Given the description of an element on the screen output the (x, y) to click on. 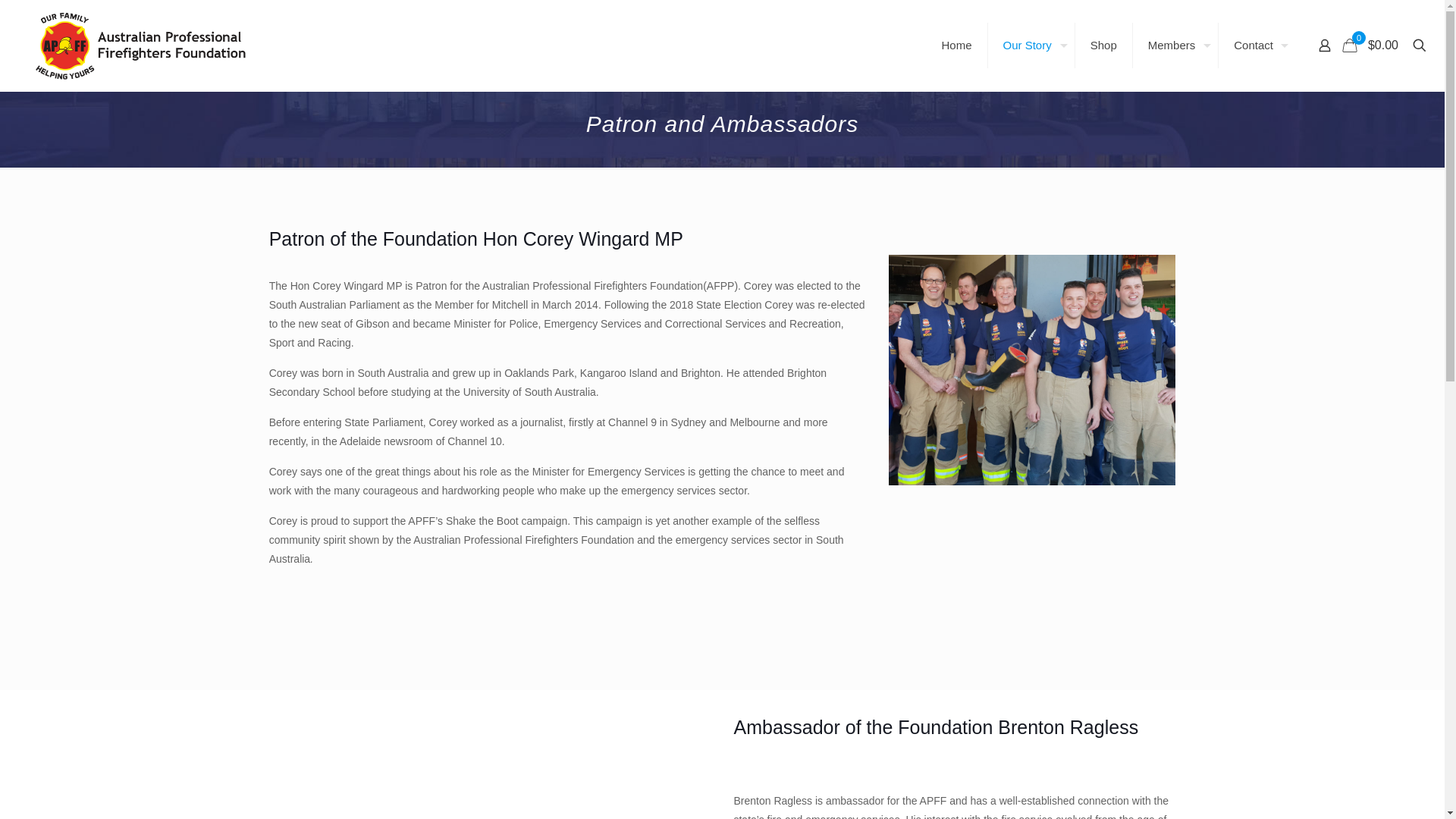
Our Story Element type: text (1030, 45)
Home Element type: text (956, 45)
APFF Element type: hover (134, 45)
Shop Element type: text (1103, 45)
Members Element type: text (1175, 45)
image5 Element type: hover (1032, 369)
Contact Element type: text (1256, 45)
0
$0.00 Element type: text (1372, 45)
